Given the description of an element on the screen output the (x, y) to click on. 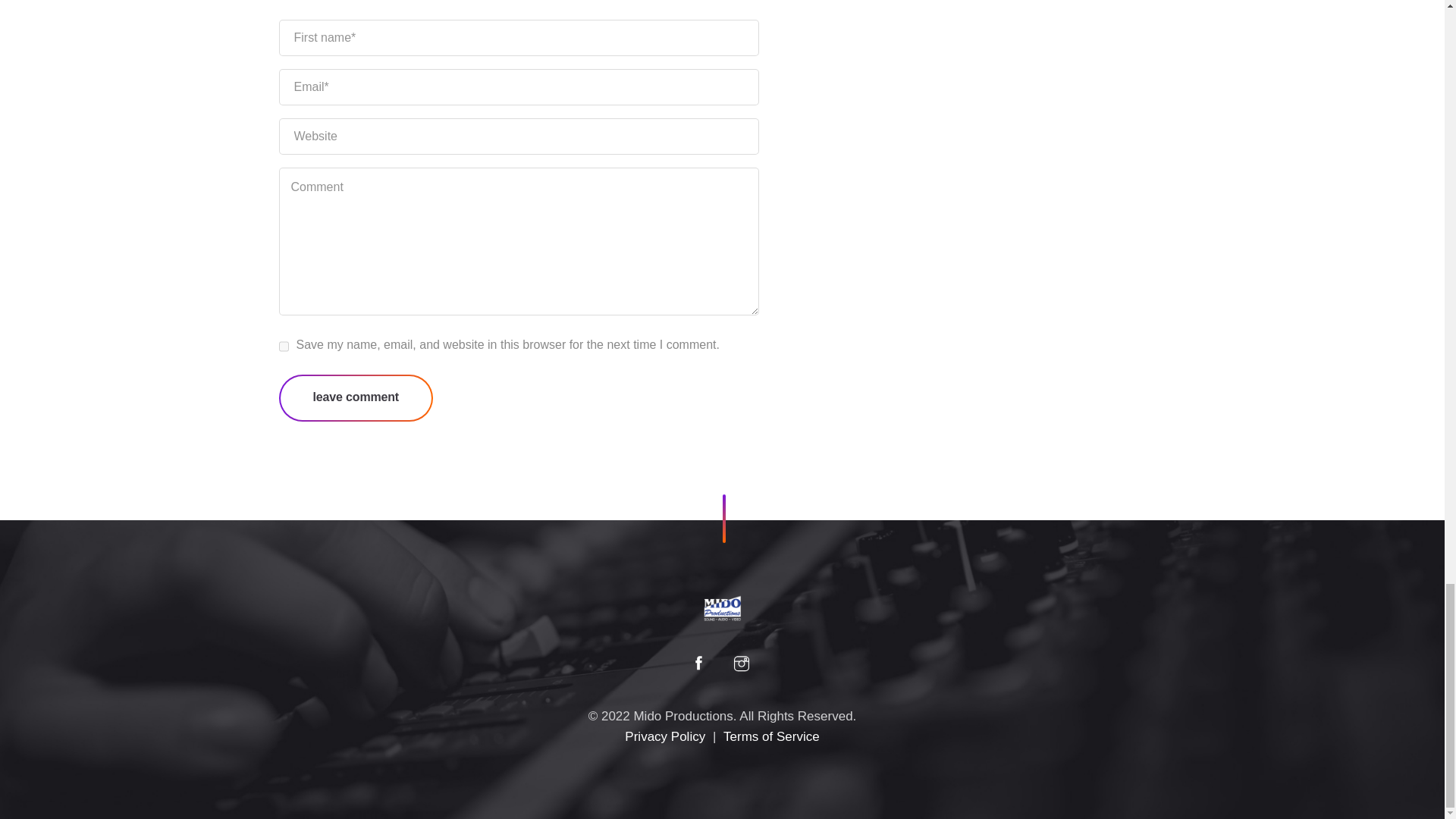
leave comment (356, 397)
facebook (698, 666)
Privacy Policy (664, 736)
yes (283, 346)
